Given the description of an element on the screen output the (x, y) to click on. 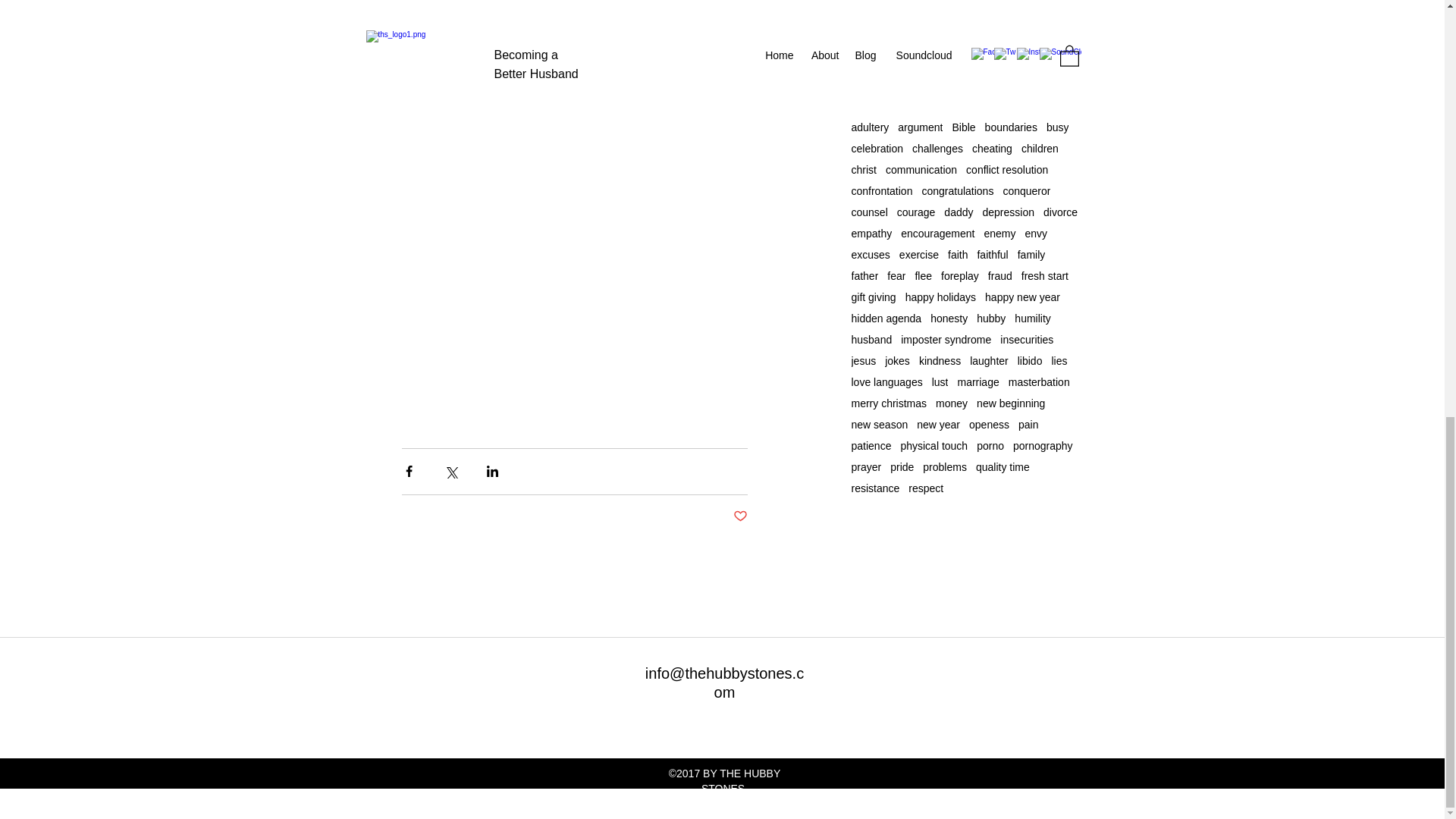
act of service (881, 105)
August 2017 (964, 6)
acts of service (1034, 105)
July 2017 (964, 22)
active listening (957, 105)
adultery (869, 127)
June 2017 (964, 40)
